Given the description of an element on the screen output the (x, y) to click on. 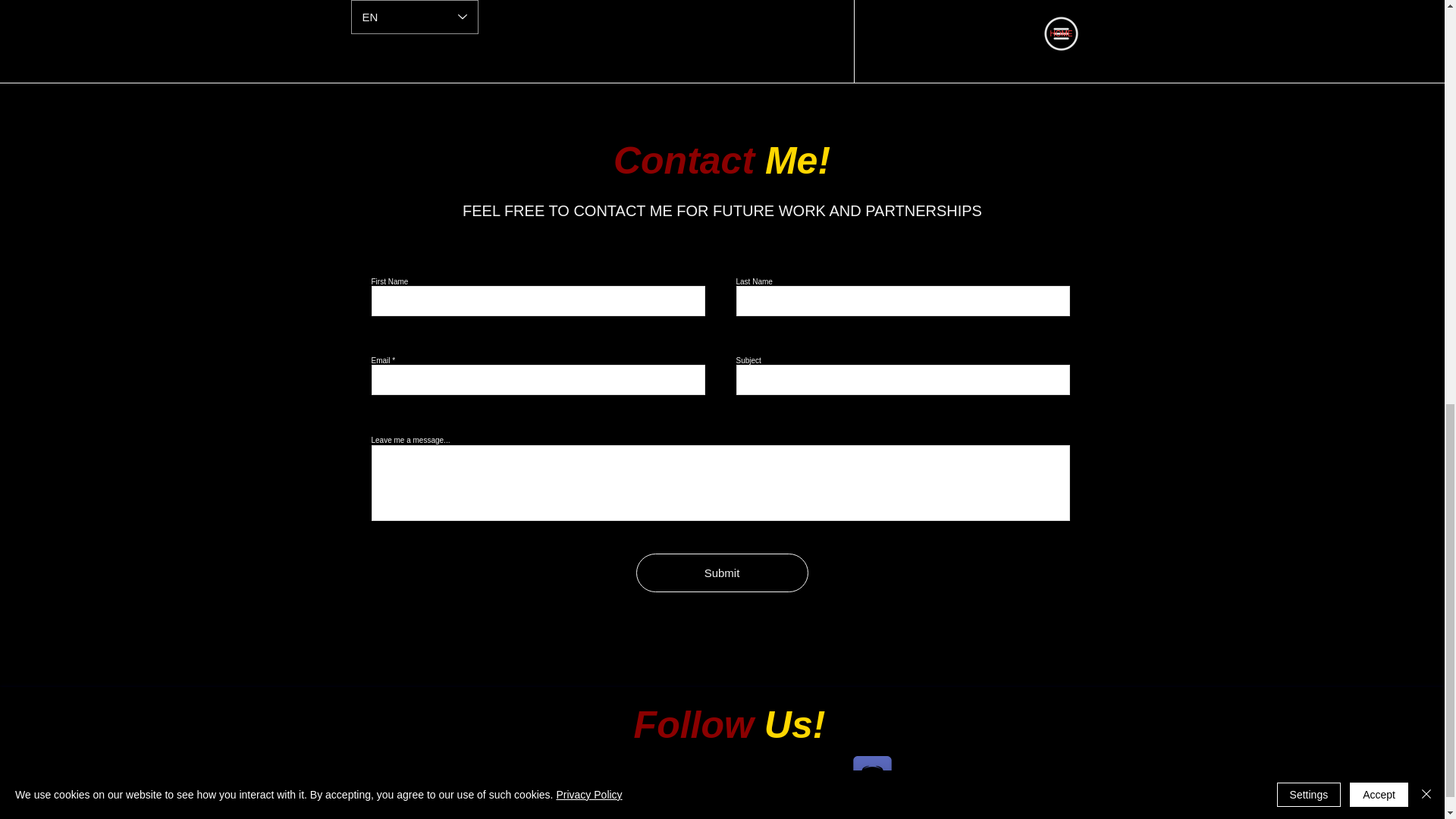
Twitter Follow (718, 789)
BACK TO TOP (1048, 816)
Submit (721, 572)
